Given the description of an element on the screen output the (x, y) to click on. 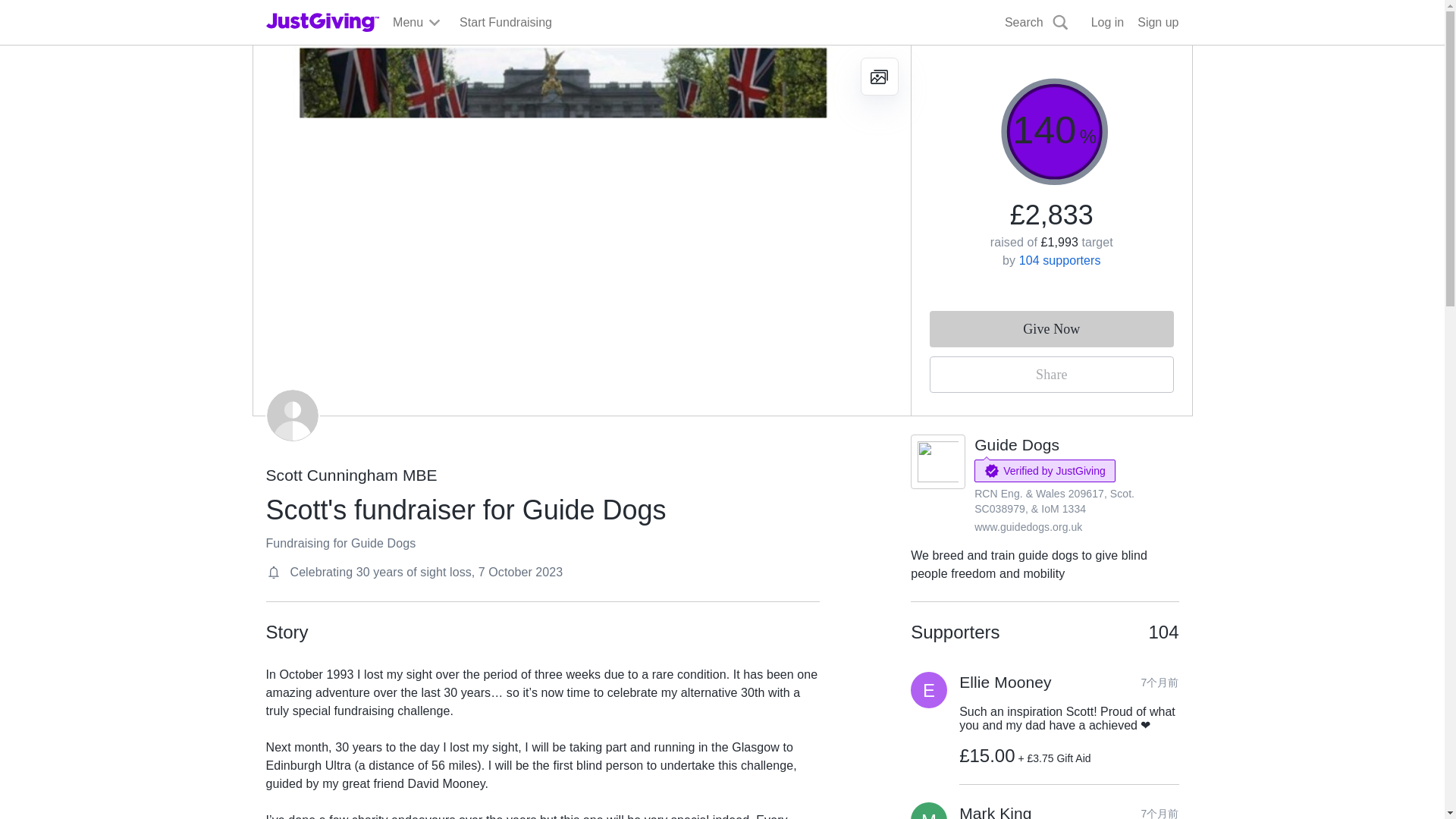
Sign up (1157, 22)
Menu (416, 22)
Log in (1107, 22)
Search (919, 57)
Start Fundraising (505, 22)
104 supporters (1059, 259)
Search (1036, 22)
www.guidedogs.org.uk (1027, 526)
Guide Dogs (1016, 444)
Share (1051, 374)
